Given the description of an element on the screen output the (x, y) to click on. 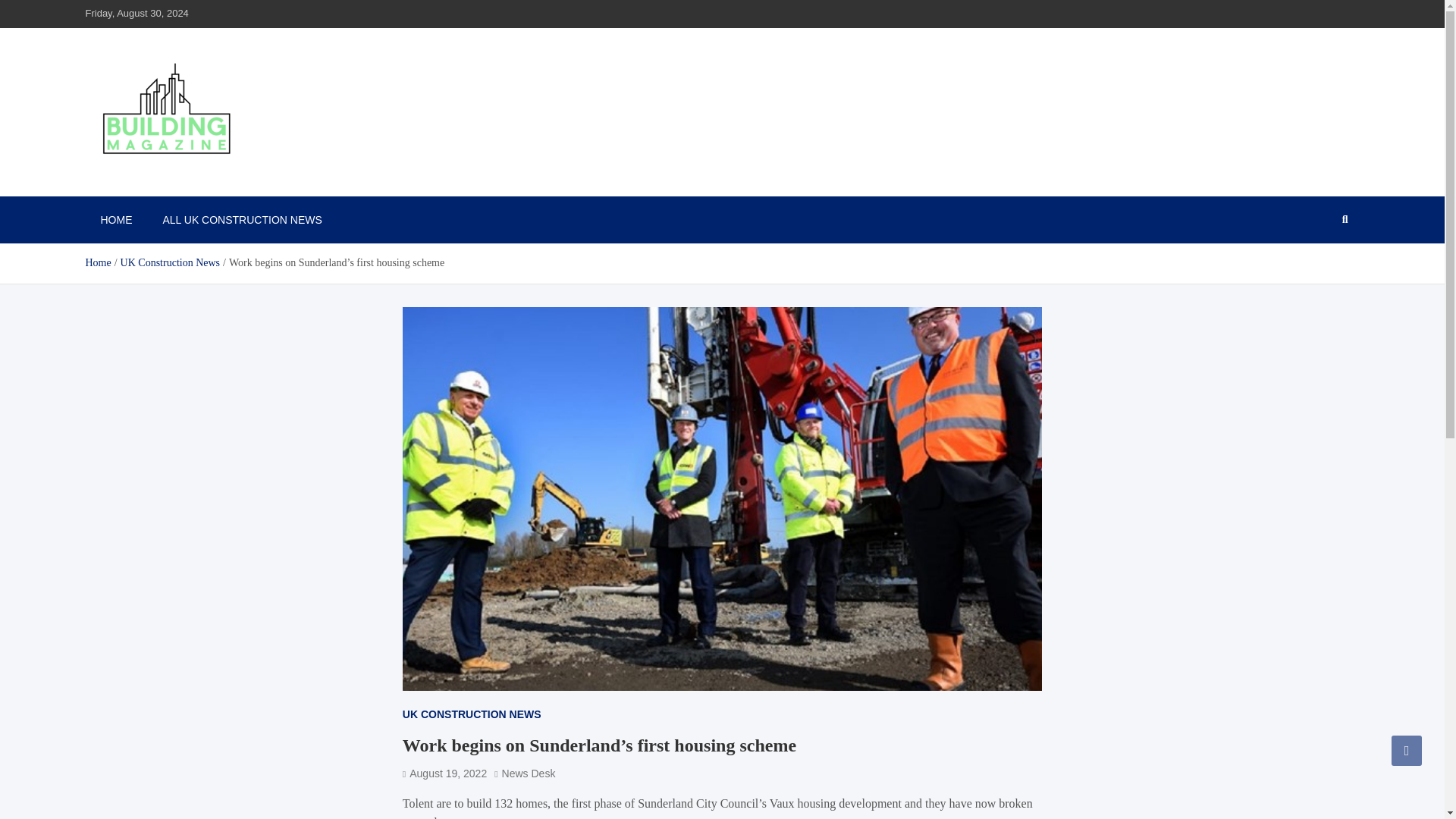
HOME (115, 219)
August 19, 2022 (444, 773)
News Desk (524, 773)
ALL UK CONSTRUCTION NEWS (241, 219)
UK CONSTRUCTION NEWS (472, 713)
UK Construction News (169, 262)
Go to Top (1406, 750)
Home (97, 262)
BUILDING MAGAZINE (216, 179)
